Given the description of an element on the screen output the (x, y) to click on. 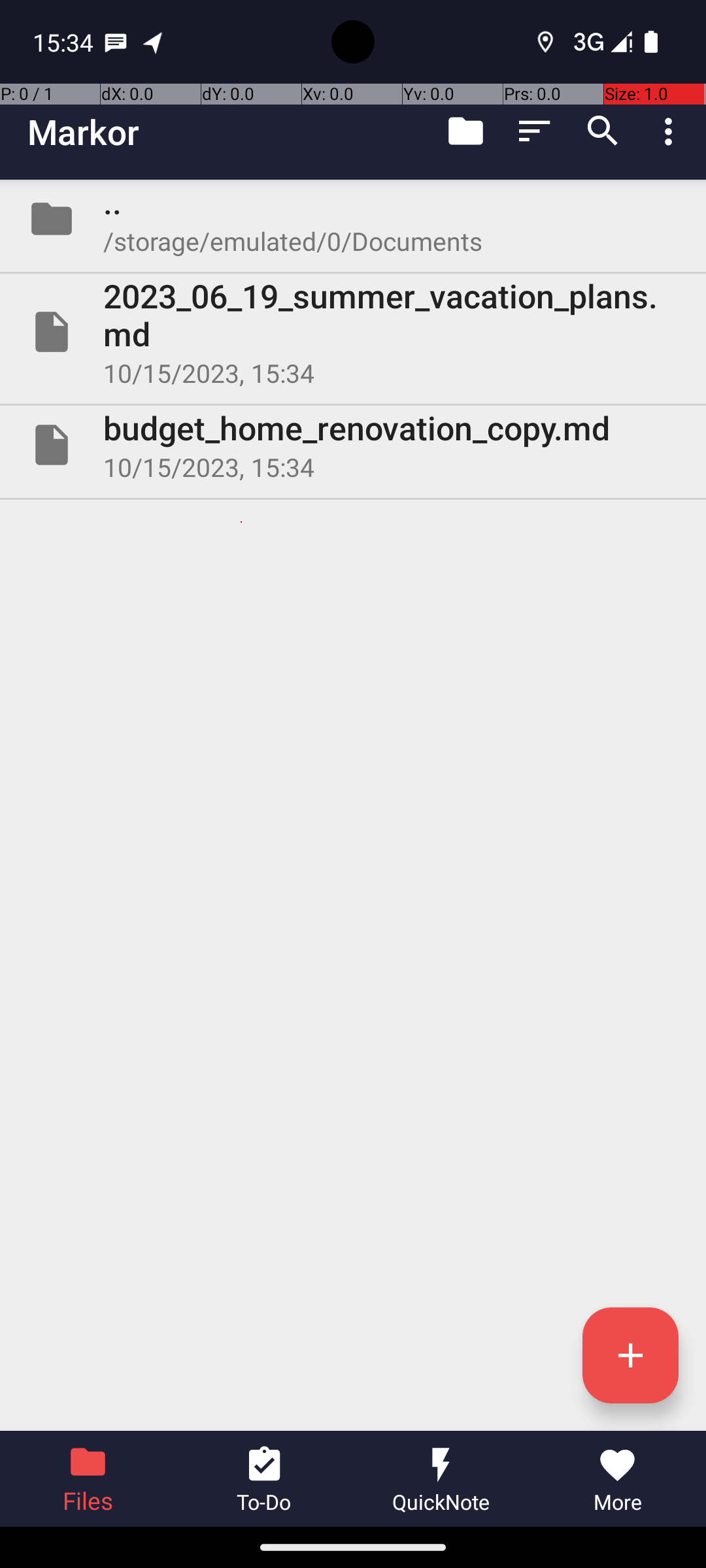
File 2023_06_19_summer_vacation_plans.md  Element type: android.widget.LinearLayout (353, 331)
File budget_home_renovation_copy.md  Element type: android.widget.LinearLayout (353, 444)
